Given the description of an element on the screen output the (x, y) to click on. 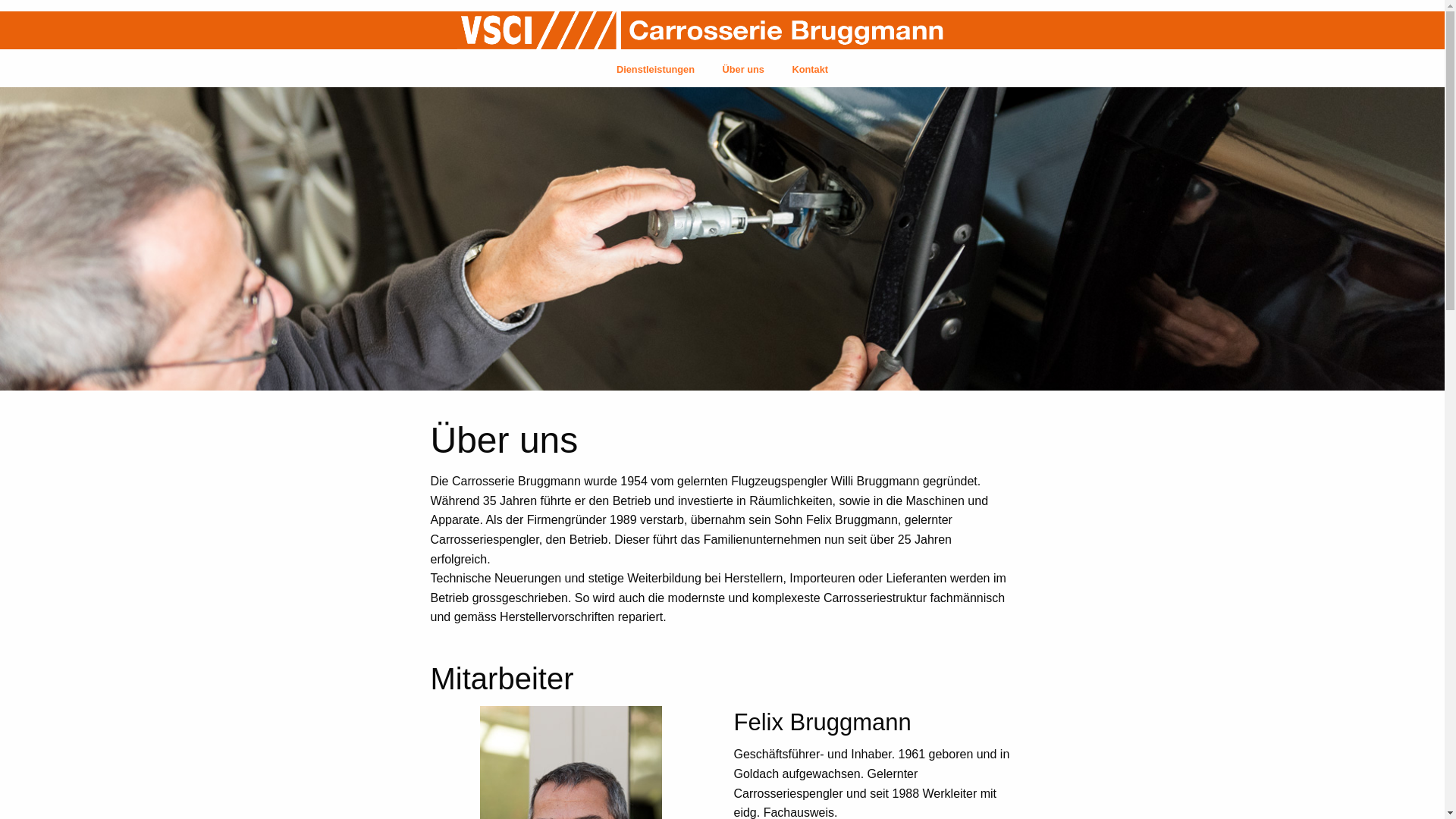
Kontakt Element type: text (809, 70)
Dienstleistungen Element type: text (655, 70)
